Given the description of an element on the screen output the (x, y) to click on. 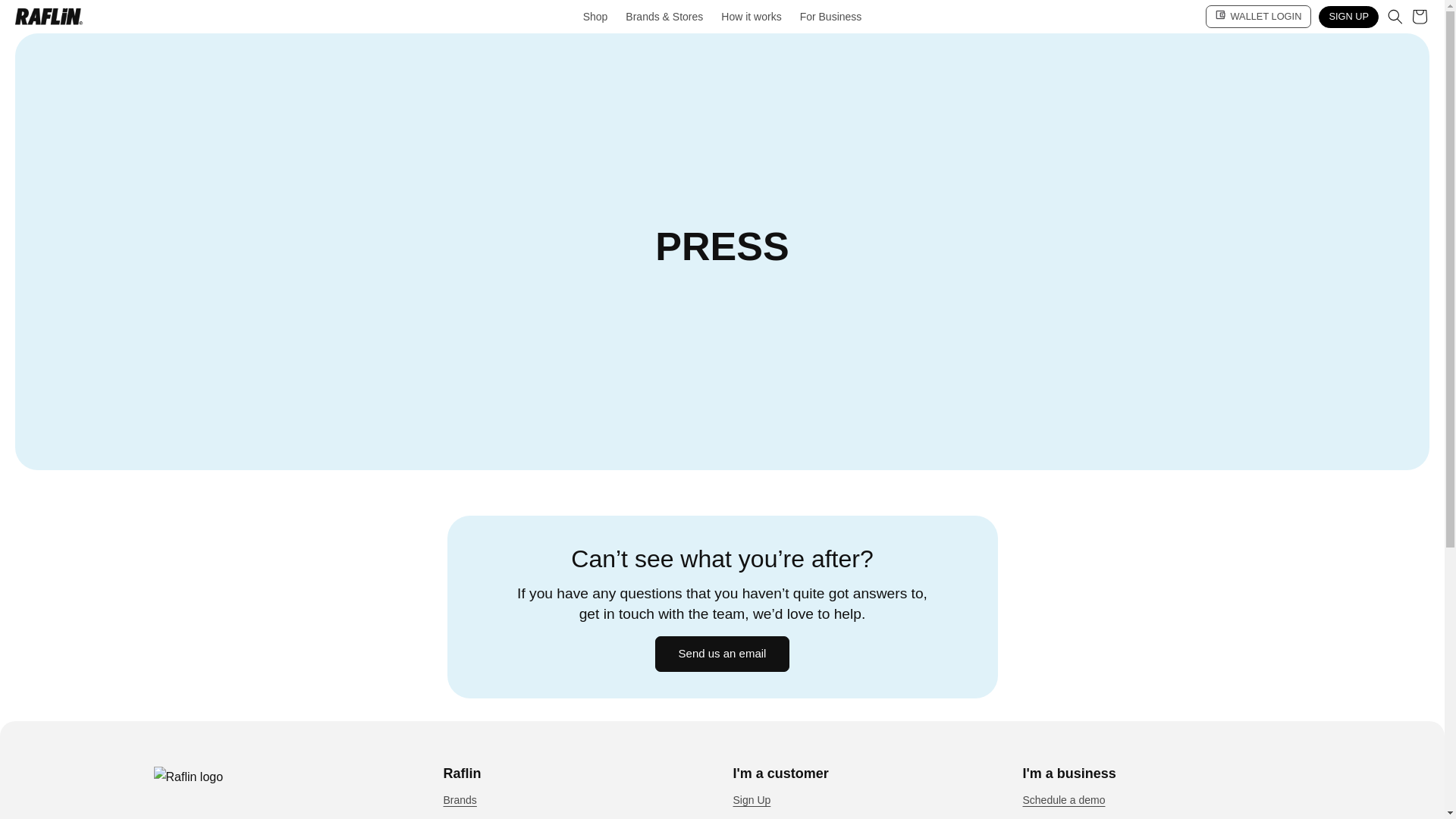
SIGN UP (1348, 16)
Shop (595, 16)
How it works (750, 16)
For Business (830, 16)
Skip to content (45, 17)
Send us an email (722, 653)
How Raflin works (772, 816)
Cart (1419, 16)
Sign Up (751, 802)
FAQs (455, 816)
Brands (459, 802)
WALLET LOGIN (1258, 15)
Schedule a demo (1063, 802)
How Raflin works (1062, 816)
